Given the description of an element on the screen output the (x, y) to click on. 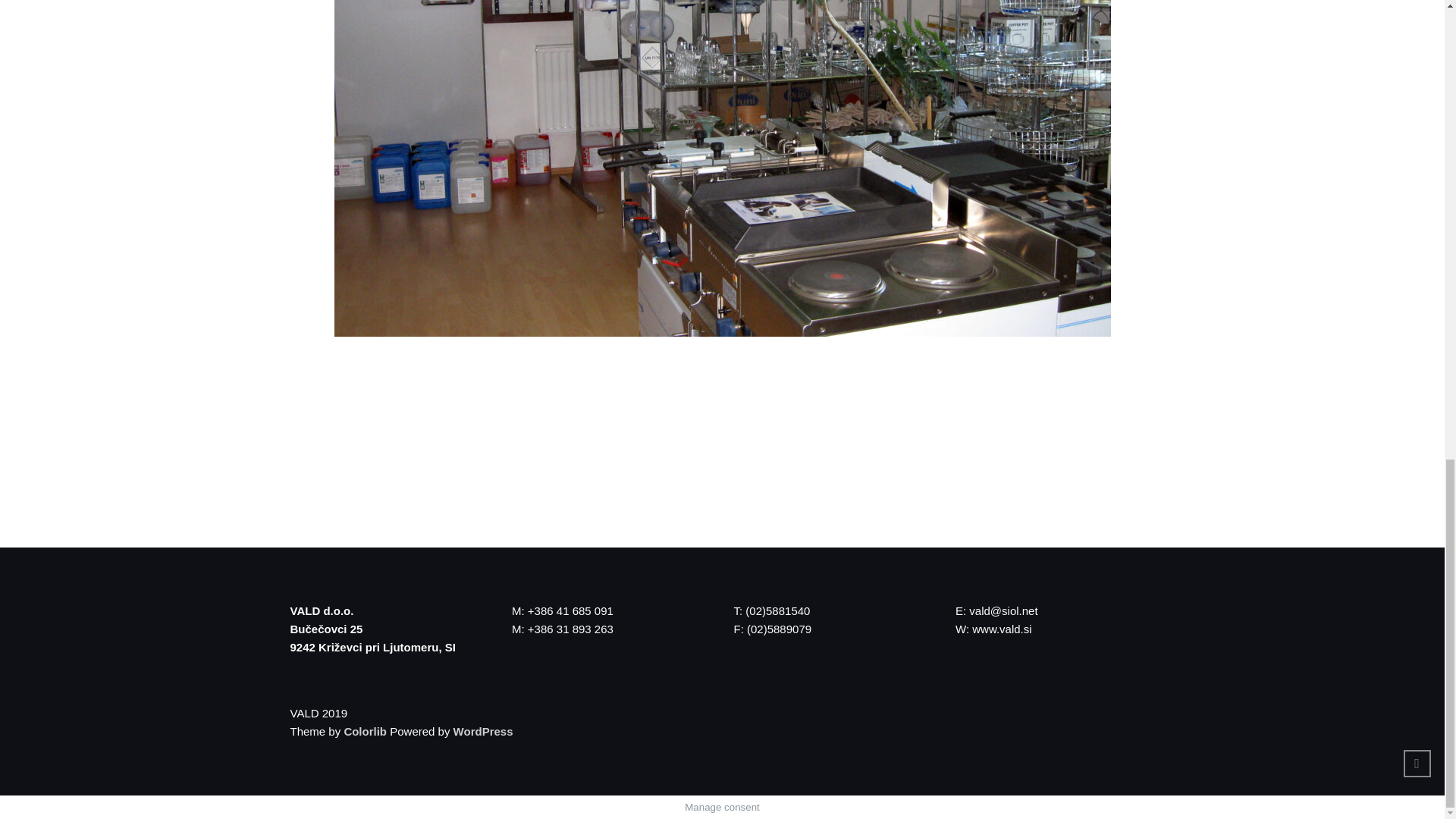
WordPress (482, 730)
Colorlib (365, 730)
WordPress.org (482, 730)
Colorlib (365, 730)
